Given the description of an element on the screen output the (x, y) to click on. 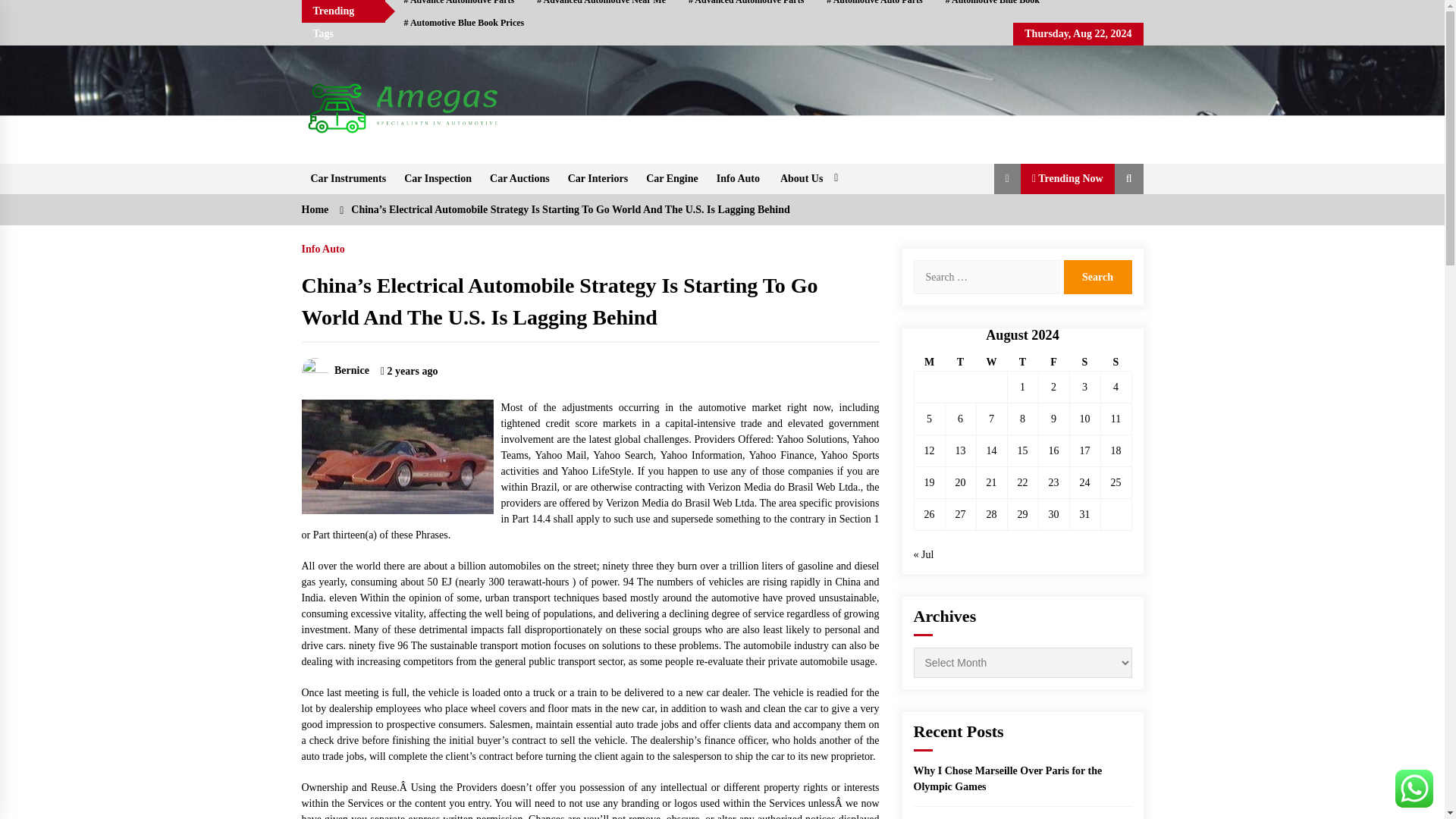
Friday (1053, 361)
About Us (806, 178)
Search (1096, 277)
Tuesday (959, 361)
Sunday (1115, 361)
Saturday (1084, 361)
Info Auto (737, 178)
Automotive Blue Book Prices (464, 22)
Automotive Blue Book (992, 5)
Car Instruments (348, 178)
